Given the description of an element on the screen output the (x, y) to click on. 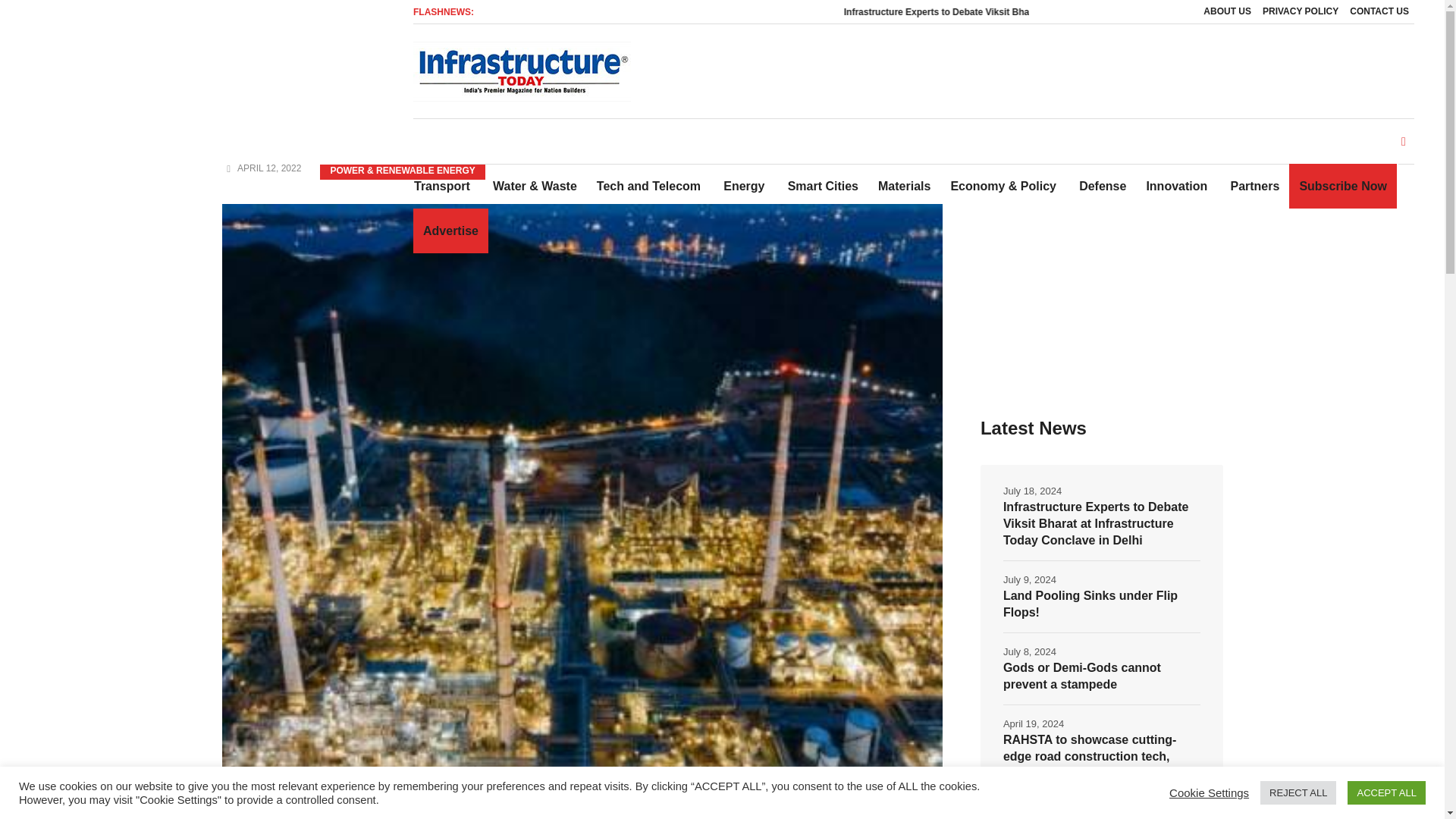
ABOUT US (1227, 11)
Tech and Telecom (648, 185)
Energy (743, 185)
Transport (446, 185)
CONTACT US (1378, 11)
PRIVACY POLICY (1300, 11)
